Given the description of an element on the screen output the (x, y) to click on. 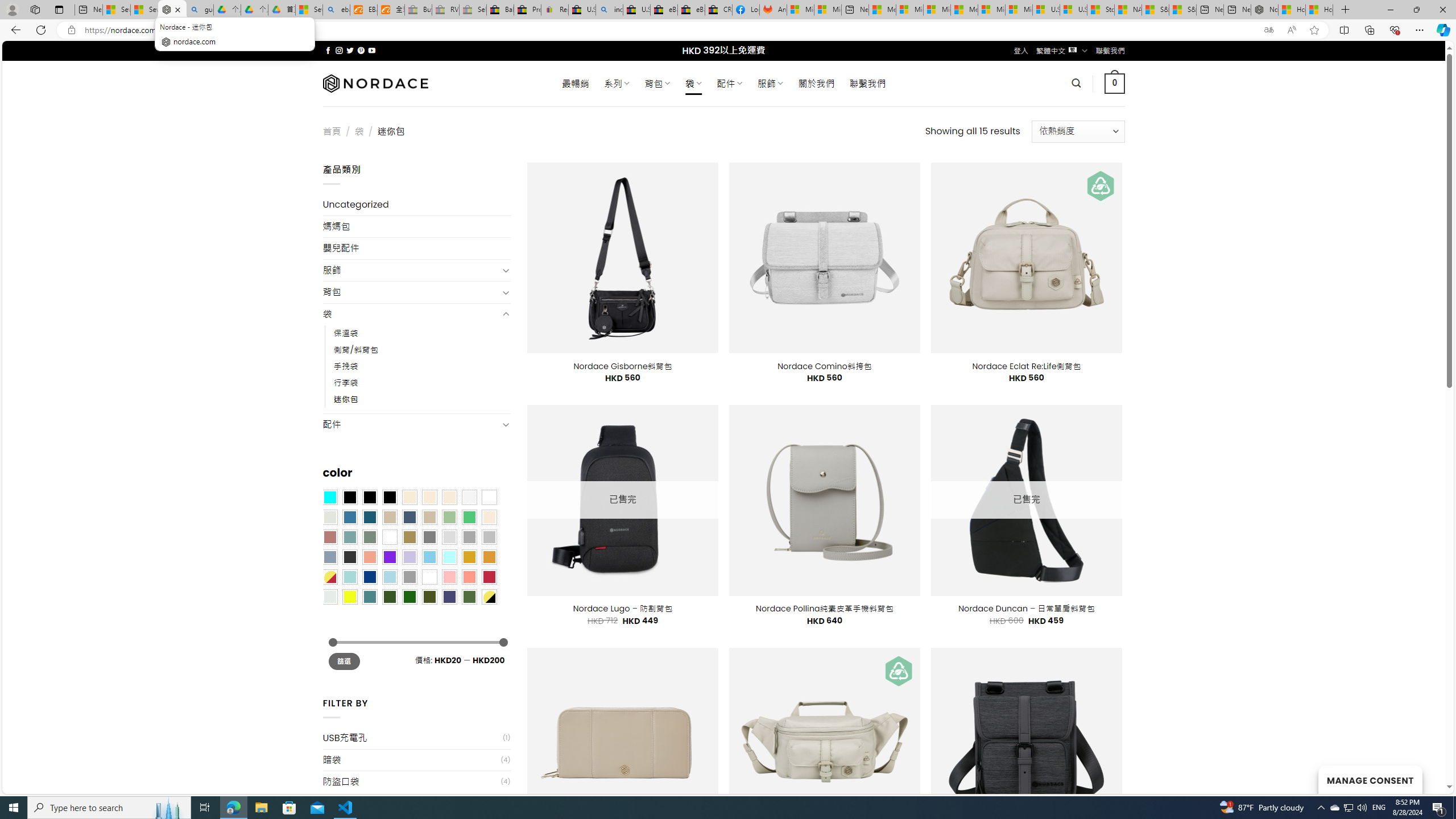
Address and search bar (669, 29)
